Given the description of an element on the screen output the (x, y) to click on. 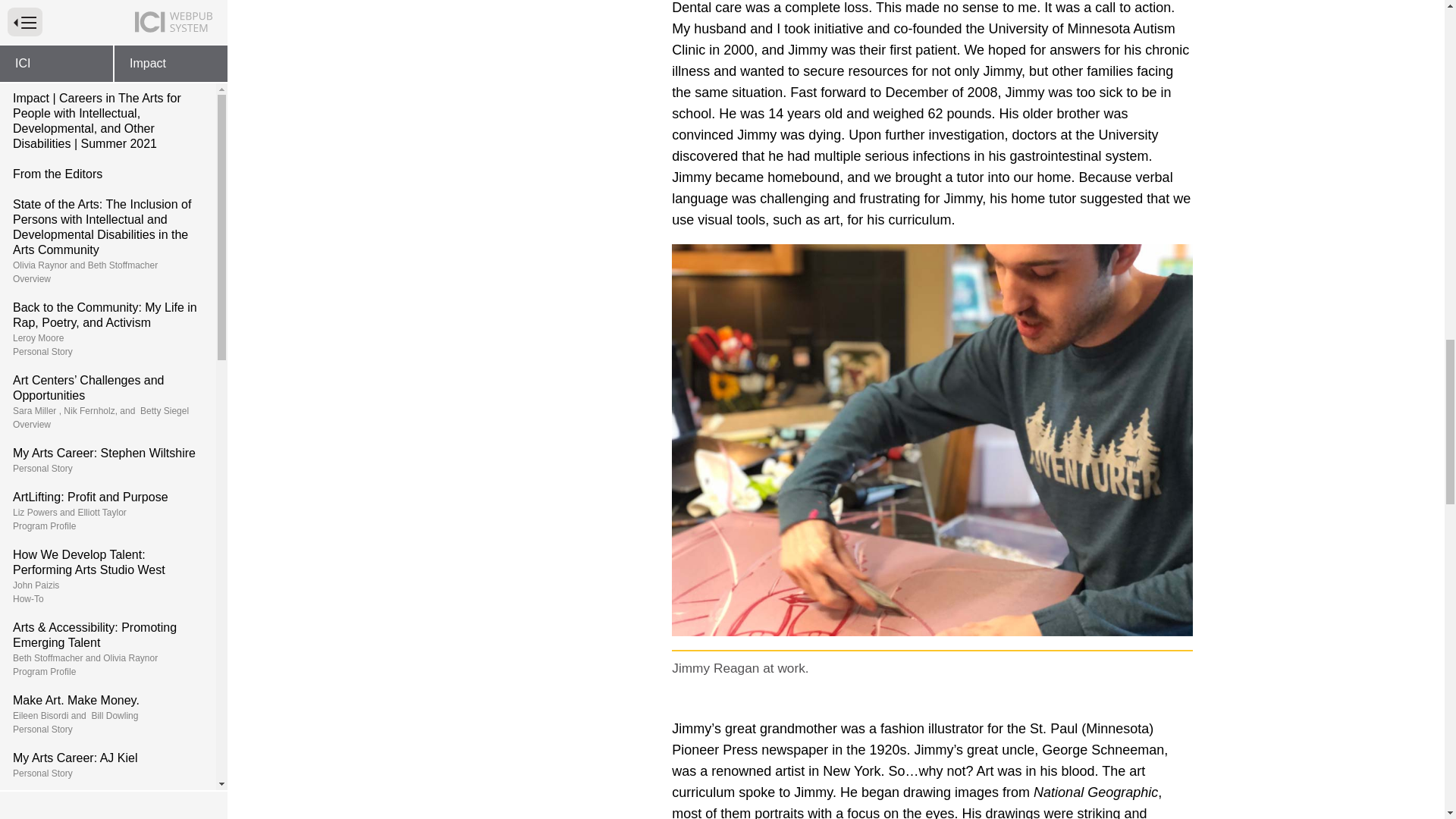
Back Cover (107, 147)
